Given the description of an element on the screen output the (x, y) to click on. 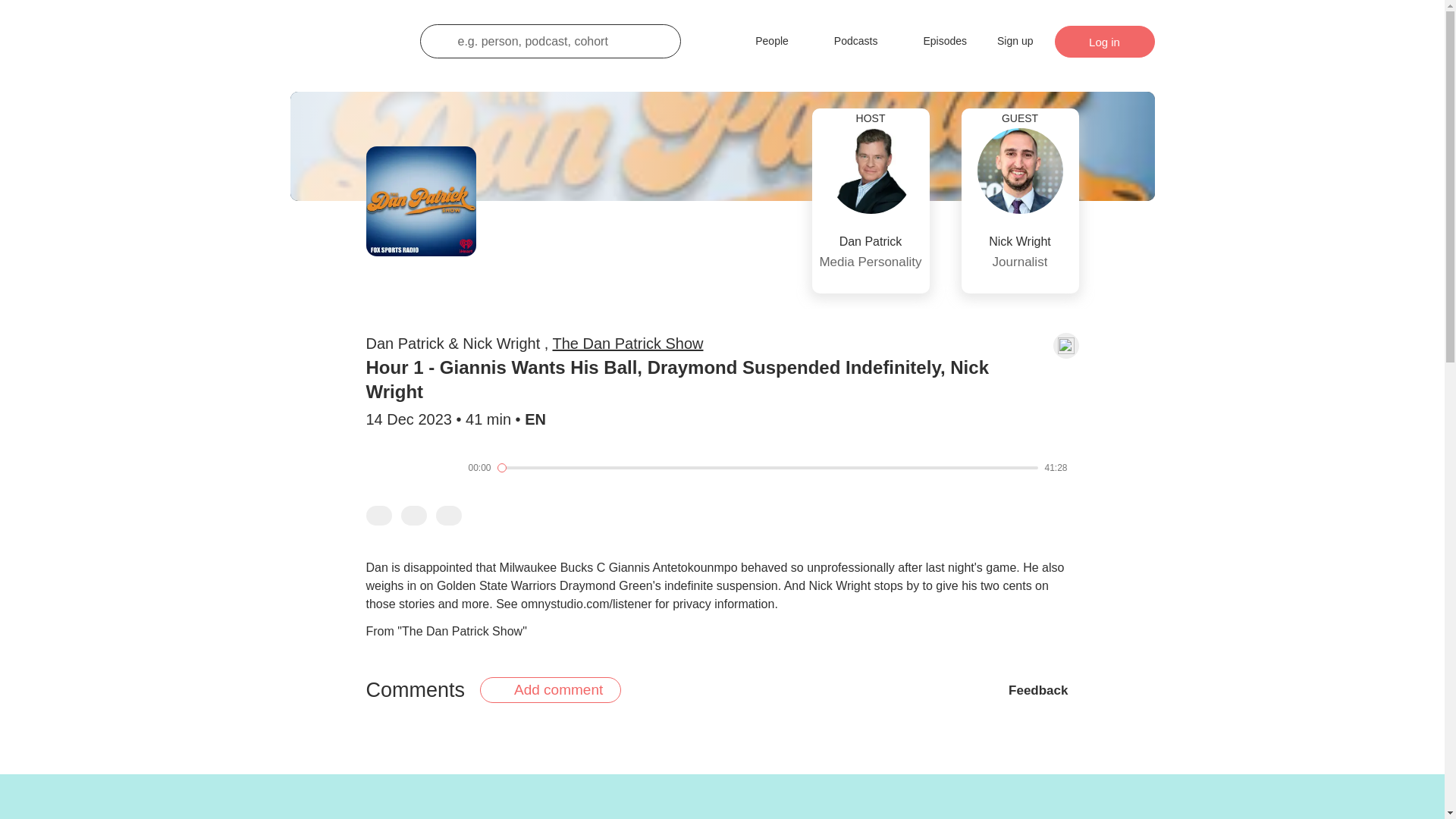
Episodes (933, 40)
0 (1019, 200)
Log in (768, 467)
People (870, 200)
Sign up (1104, 41)
Podcasts (761, 40)
The Dan Patrick Show (1014, 41)
